Given the description of an element on the screen output the (x, y) to click on. 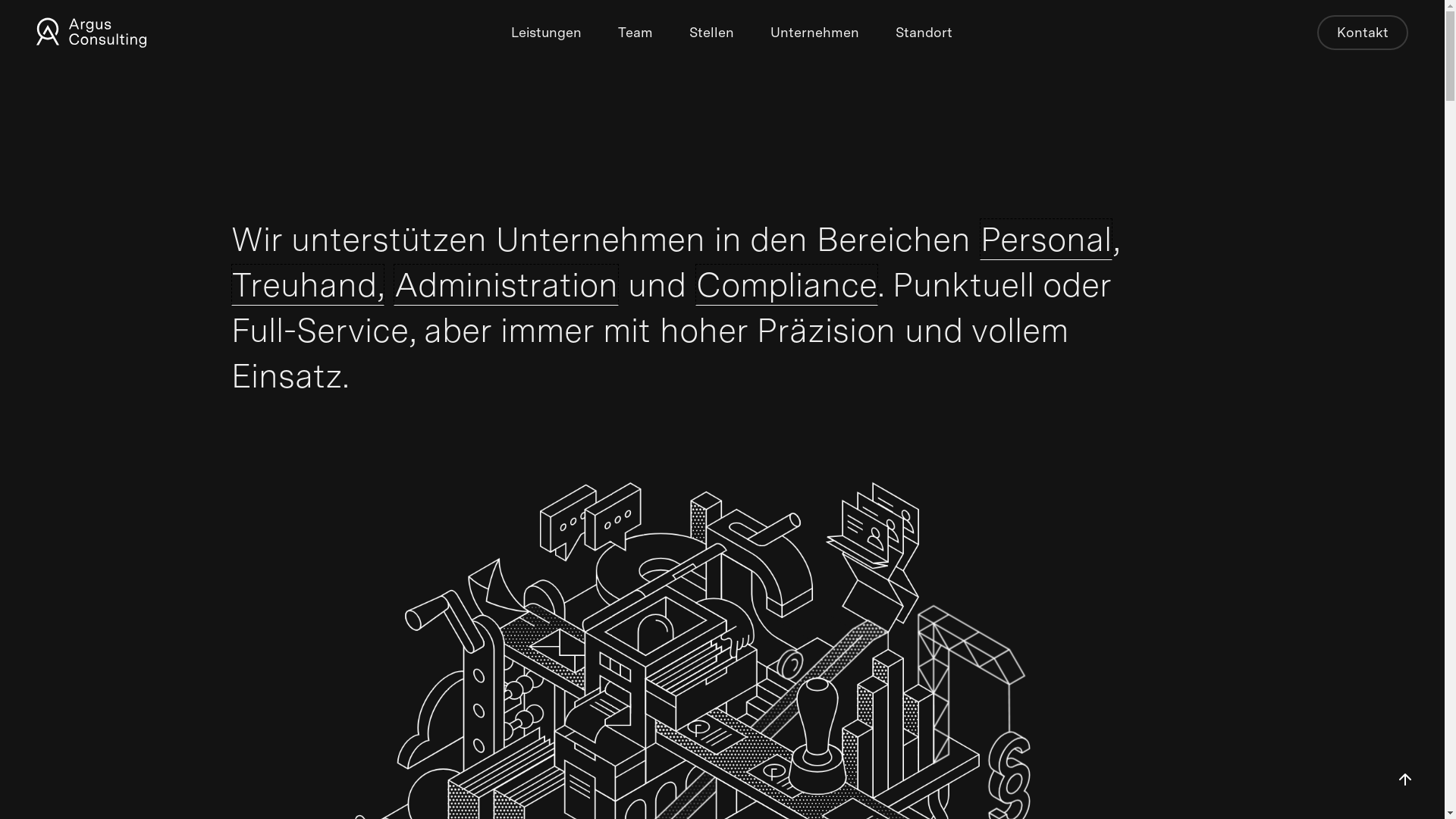
Team Element type: text (635, 32)
Personal Element type: text (1045, 239)
Stellen Element type: text (711, 32)
Standort Element type: text (923, 32)
Administration Element type: text (505, 284)
Unternehmen Element type: text (814, 32)
Treuhand, Element type: text (306, 284)
Compliance Element type: text (785, 284)
Leistungen Element type: text (546, 32)
Kontakt Element type: text (1362, 32)
